Given the description of an element on the screen output the (x, y) to click on. 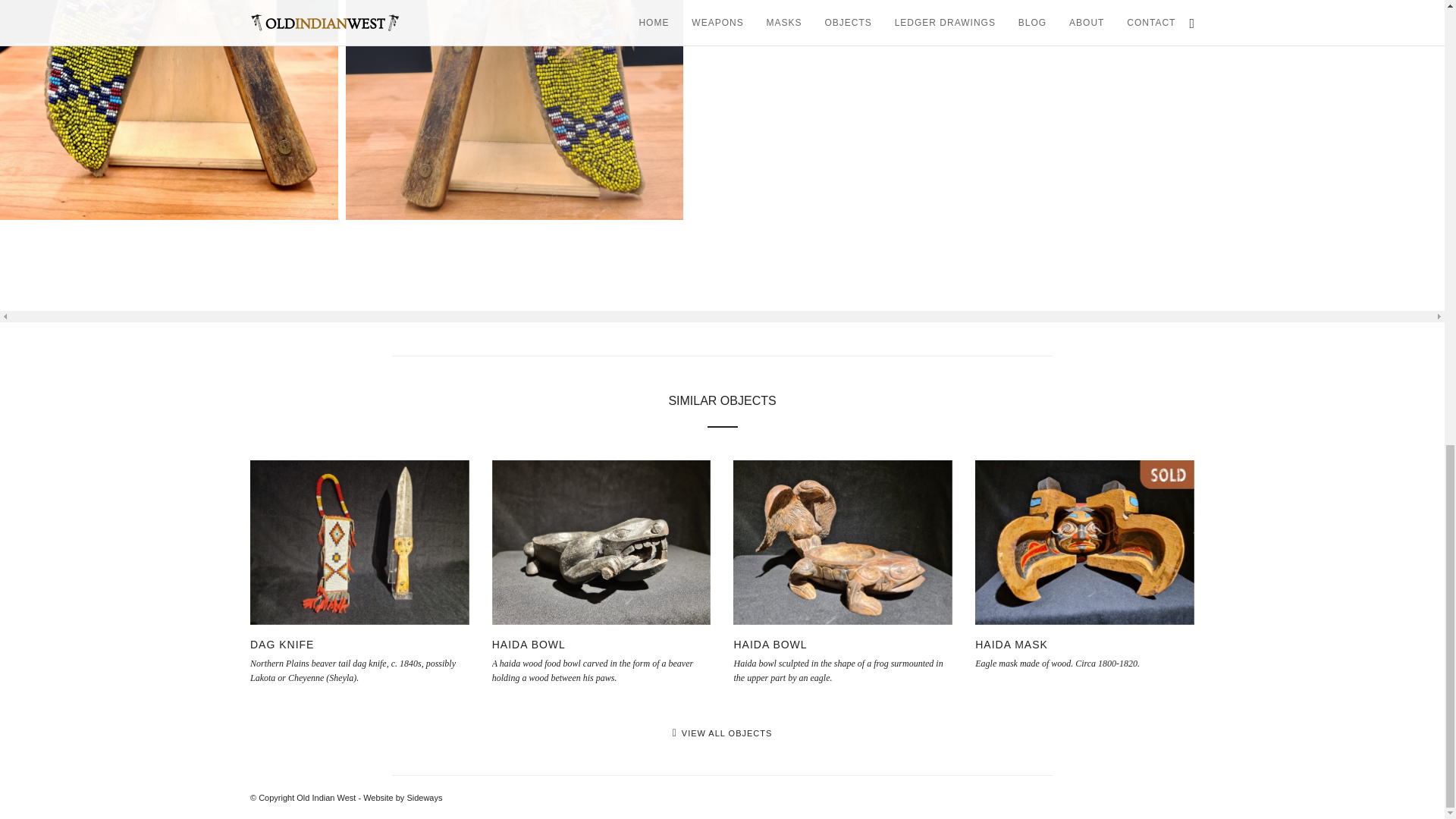
VIEW ALL OBJECTS (722, 732)
